Given the description of an element on the screen output the (x, y) to click on. 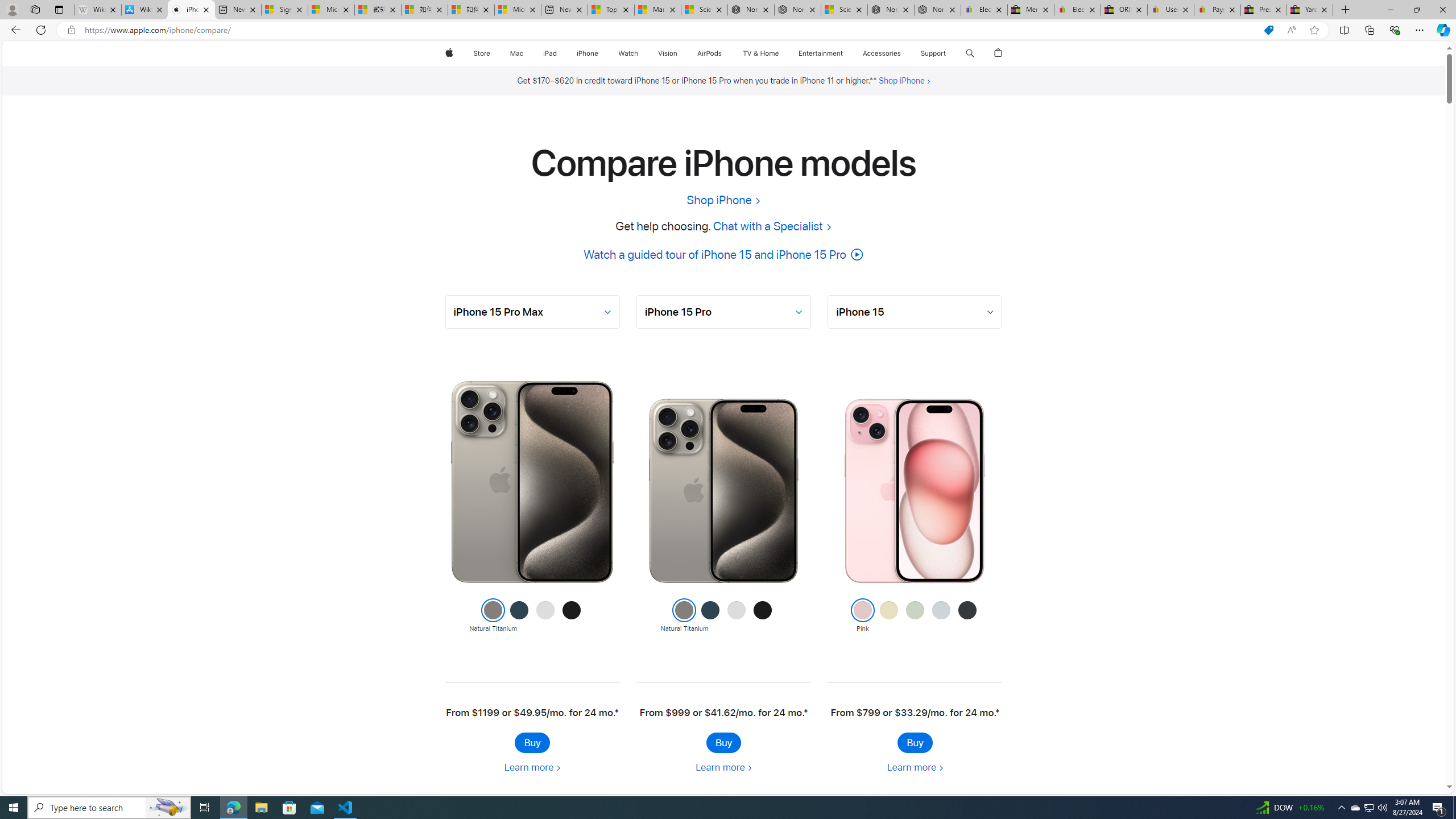
Vision (667, 53)
Footnote ** symbol (872, 80)
Nordace - FAQ (937, 9)
AutomationID: selector-0 (531, 311)
Class: globalnav-submenu-trigger-item (948, 53)
Black (967, 615)
Buy iPhone 15 Pro (723, 742)
